Given the description of an element on the screen output the (x, y) to click on. 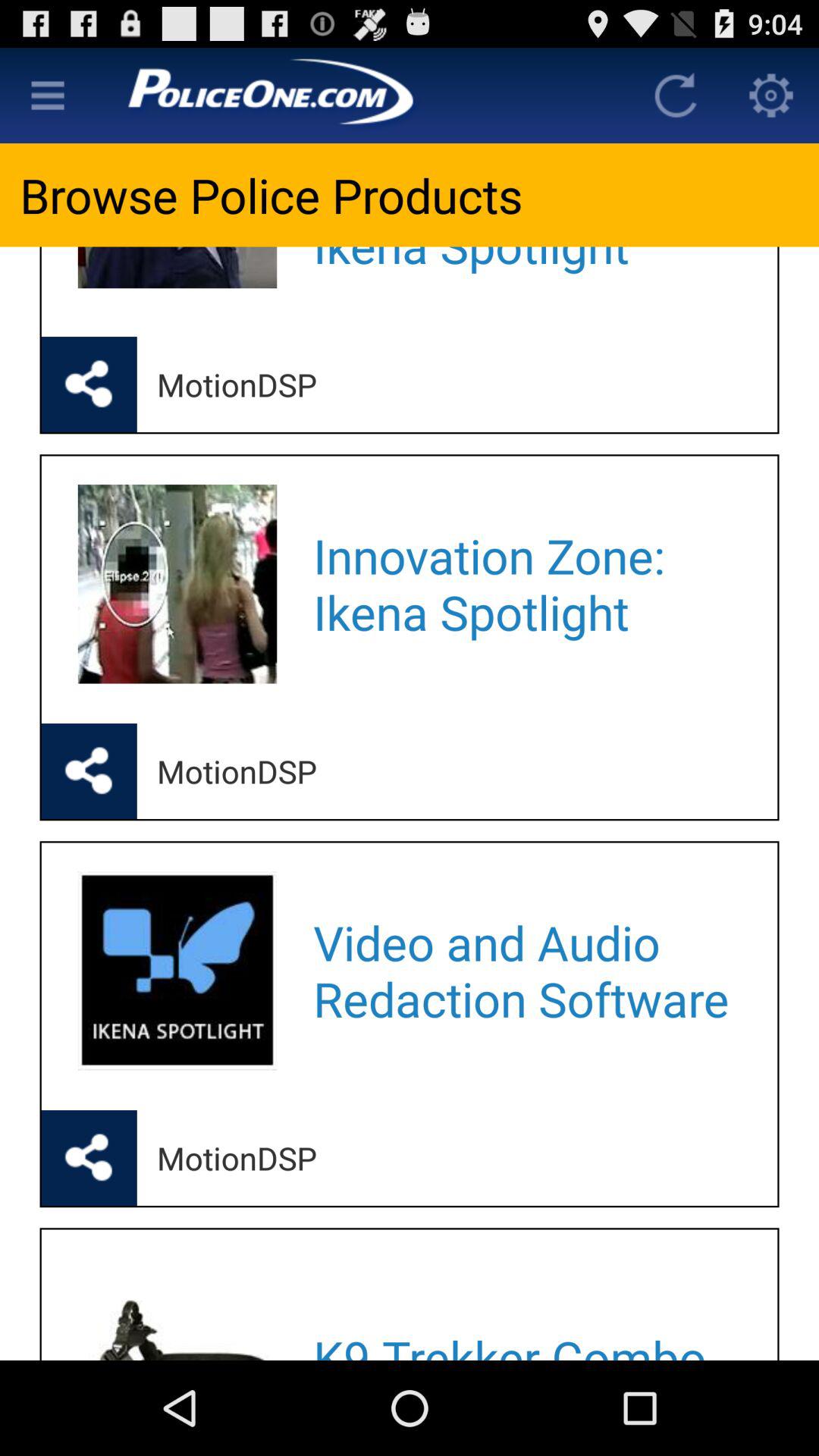
turn on the k9 trekker combo icon (525, 1309)
